Given the description of an element on the screen output the (x, y) to click on. 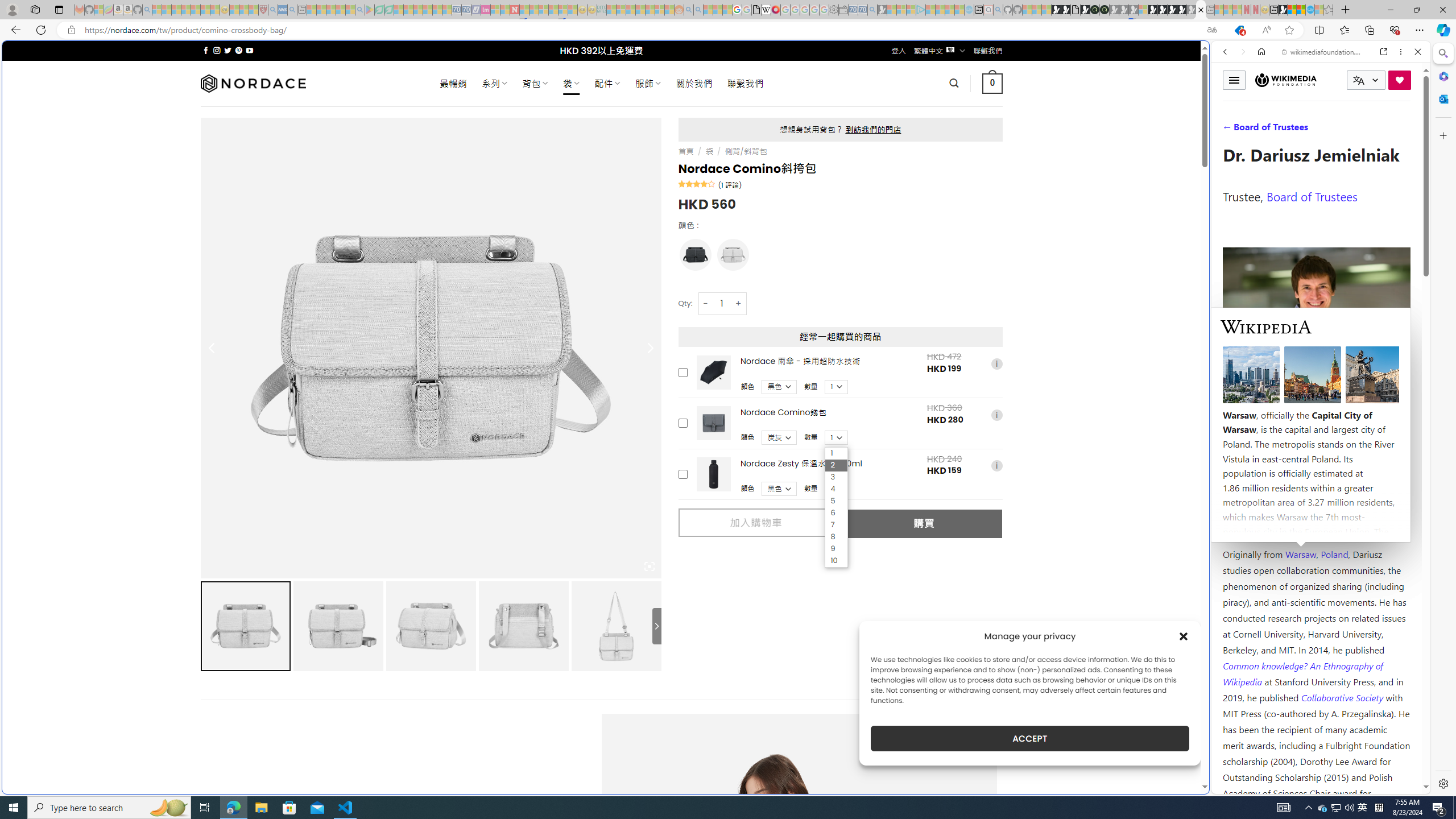
3 (836, 477)
9 (836, 548)
Poland (1334, 554)
